Given the description of an element on the screen output the (x, y) to click on. 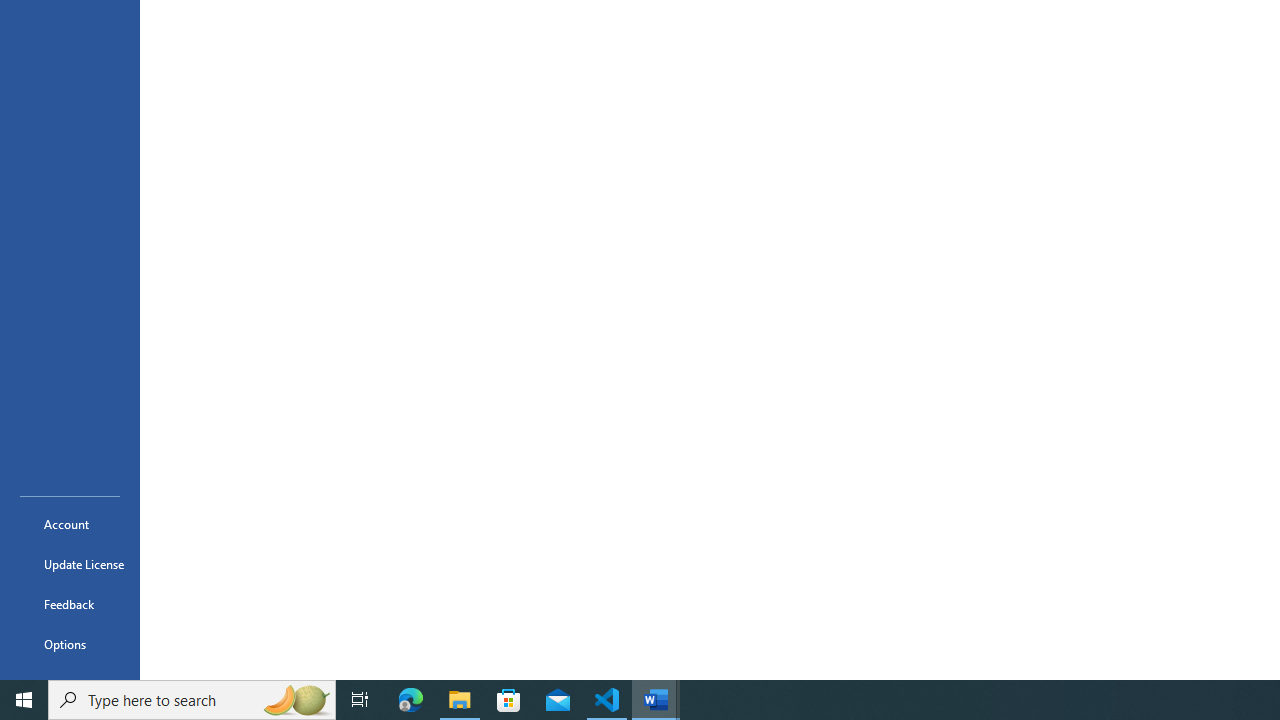
Account (69, 523)
Feedback (69, 603)
Update License (69, 563)
Options (69, 643)
